Given the description of an element on the screen output the (x, y) to click on. 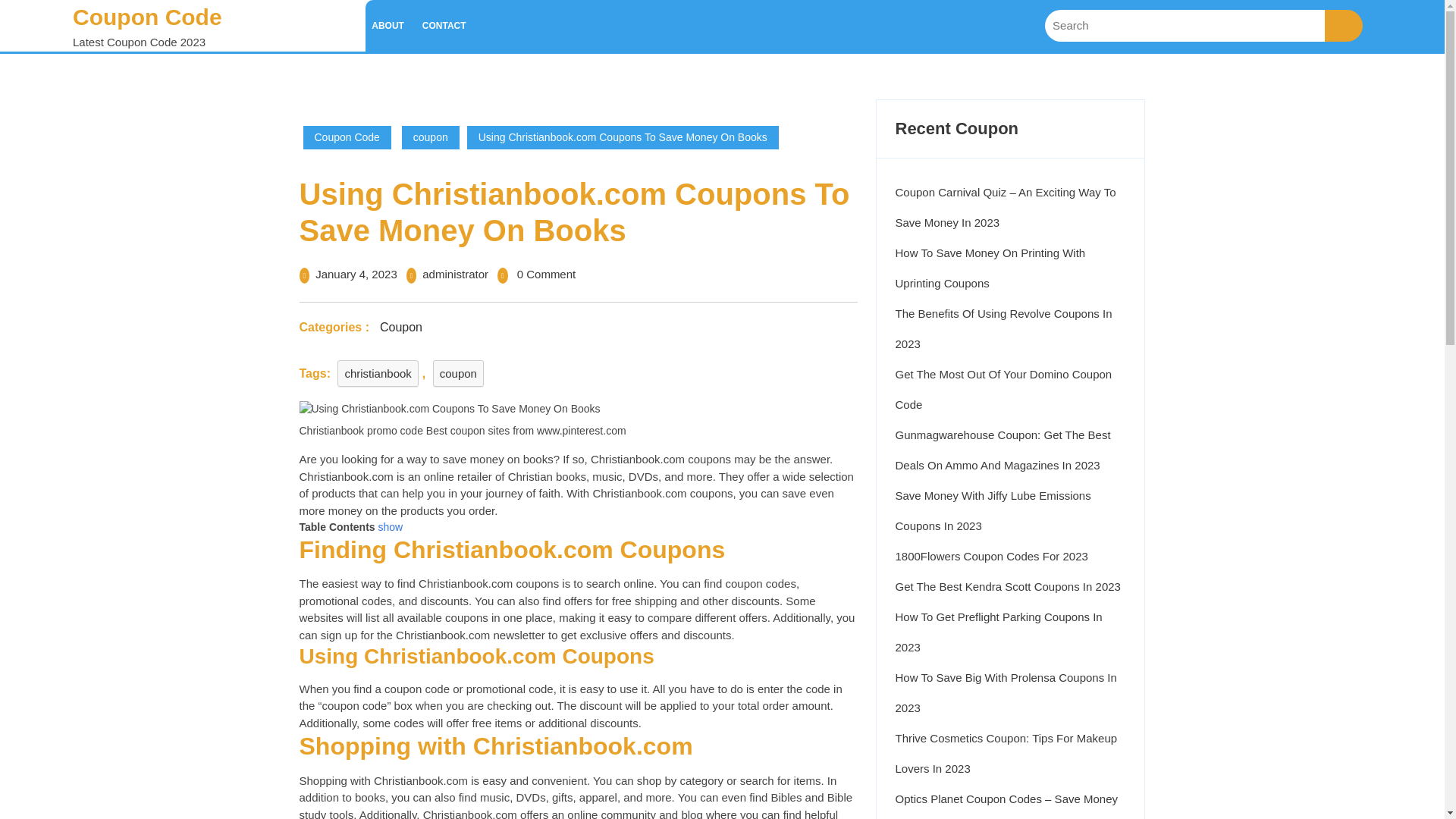
coupon (457, 372)
christianbook (377, 372)
The Benefits Of Using Revolve Coupons In 2023 (1003, 328)
Save Money With Jiffy Lube Emissions Coupons In 2023 (992, 510)
How To Get Preflight Parking Coupons In 2023 (998, 631)
Coupon Code (147, 16)
How To Save Big With Prolensa Coupons In 2023 (1005, 692)
1800Flowers Coupon Codes For 2023 (991, 555)
Coupon Code (346, 137)
